Given the description of an element on the screen output the (x, y) to click on. 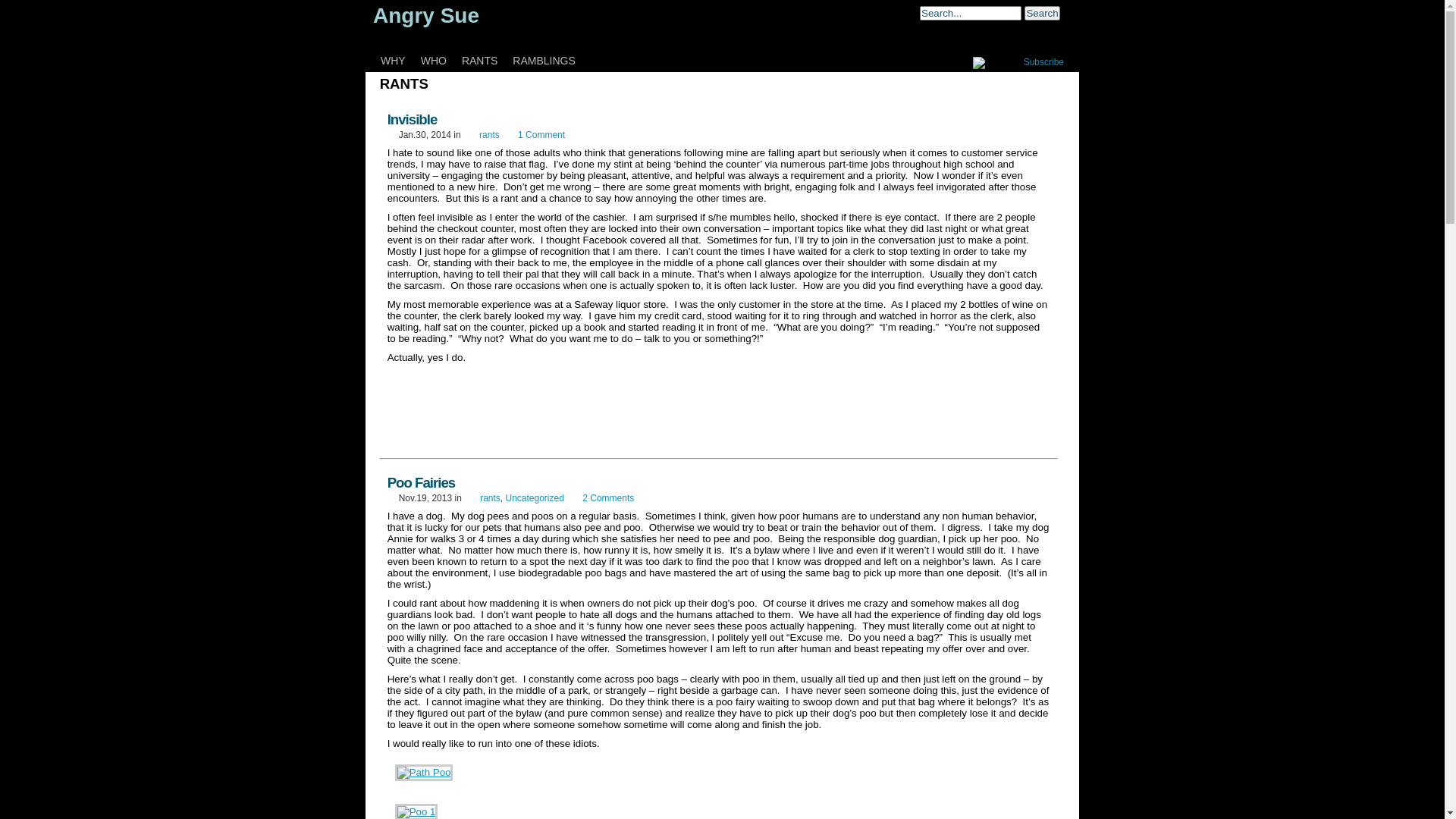
RAMBLINGS Element type: text (543, 64)
Invisible Element type: text (412, 119)
rants Element type: text (490, 497)
Subscribe Element type: text (1043, 61)
rants Element type: text (489, 134)
WHO Element type: text (433, 64)
RANTS Element type: text (479, 64)
Search Element type: text (1041, 13)
Angry Sue Element type: text (426, 15)
2 Comments Element type: text (607, 497)
Uncategorized Element type: text (534, 497)
Poo Fairies Element type: text (421, 482)
Rss feed Element type: hover (996, 62)
WHY Element type: text (392, 64)
1 Comment Element type: text (540, 134)
